Given the description of an element on the screen output the (x, y) to click on. 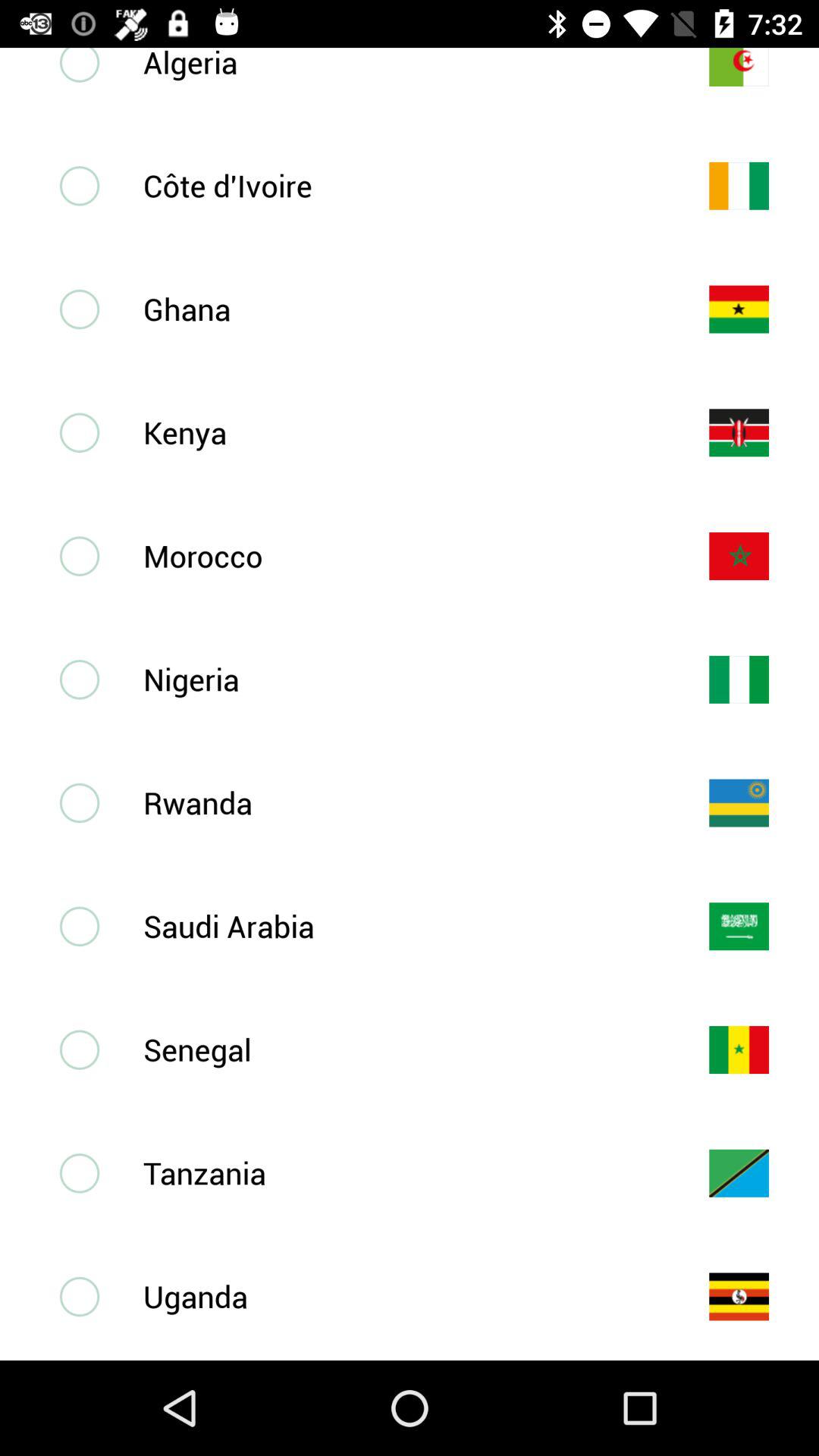
flip to the rwanda (401, 802)
